Given the description of an element on the screen output the (x, y) to click on. 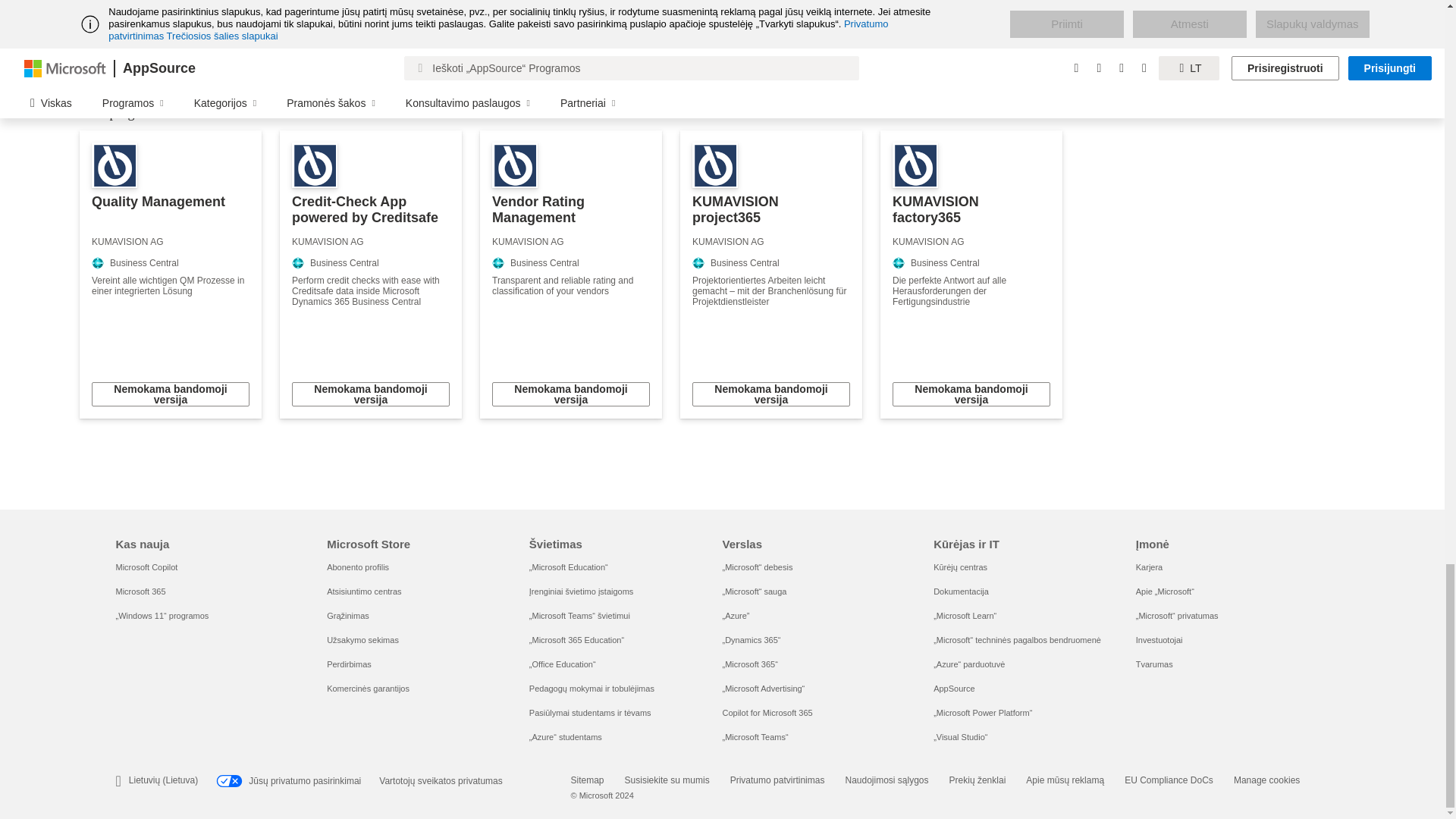
Nemokama bandomoji versija (570, 394)
Nemokama bandomoji versija (370, 394)
Nemokama bandomoji versija (169, 394)
